Given the description of an element on the screen output the (x, y) to click on. 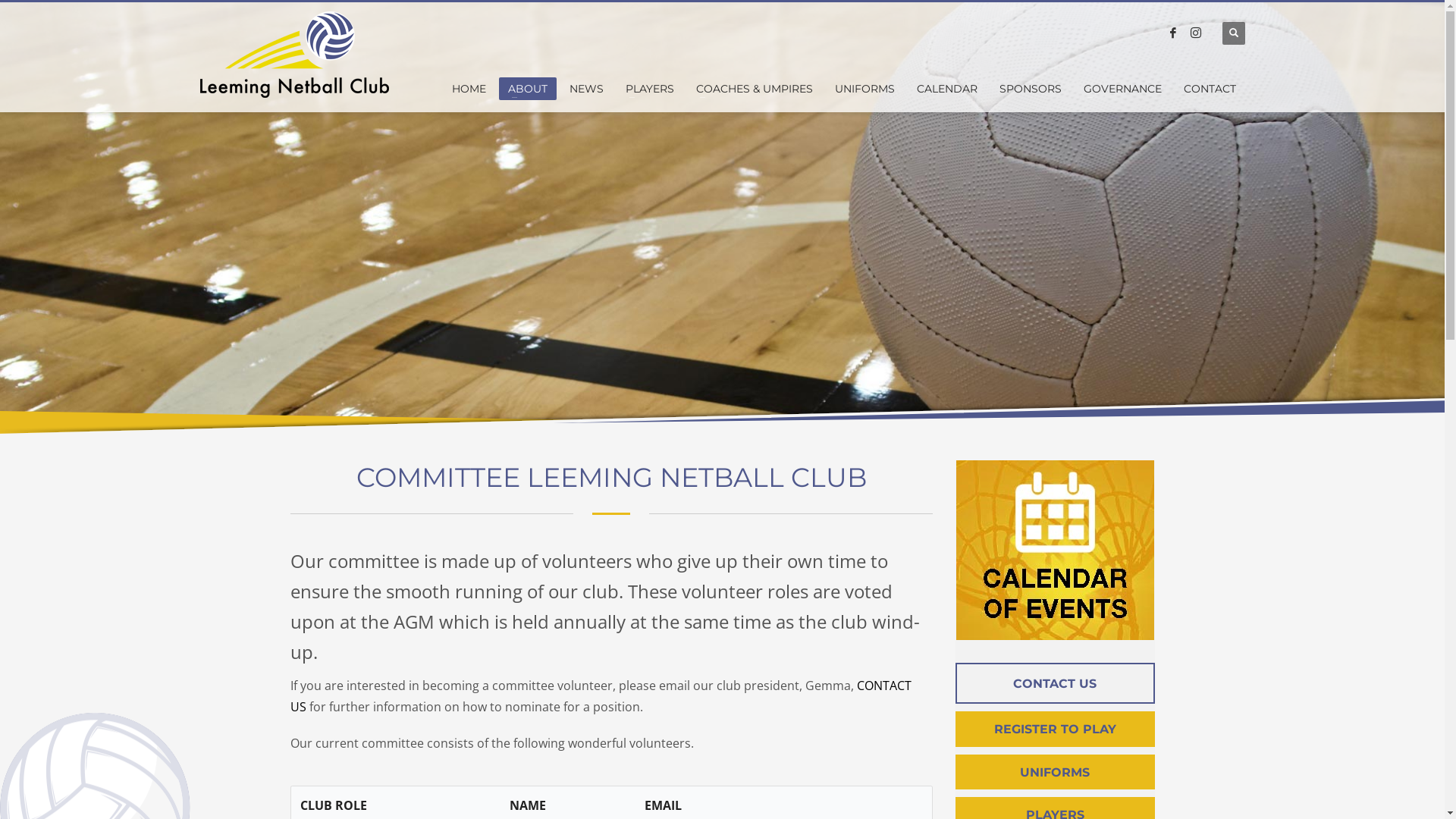
CONTACT US Element type: text (1054, 683)
Facebook Element type: hover (1172, 32)
Leeming Netball Club Element type: hover (296, 57)
ABOUT Element type: text (527, 88)
CALENDAR Element type: text (946, 88)
CONTACT Element type: text (1209, 88)
UNIFORMS Element type: text (1054, 772)
CONTACT US Element type: text (599, 695)
About-Leeming-Netball-Club Element type: hover (1055, 549)
HOME Element type: text (468, 88)
PLAYERS Element type: text (649, 88)
NEWS Element type: text (586, 88)
GOVERNANCE Element type: text (1122, 88)
Leeming-netball-Club Element type: hover (722, 216)
Twitter Element type: hover (1195, 32)
REGISTER TO PLAY Element type: text (1054, 728)
SPONSORS Element type: text (1030, 88)
COACHES & UMPIRES Element type: text (754, 88)
UNIFORMS Element type: text (864, 88)
